Given the description of an element on the screen output the (x, y) to click on. 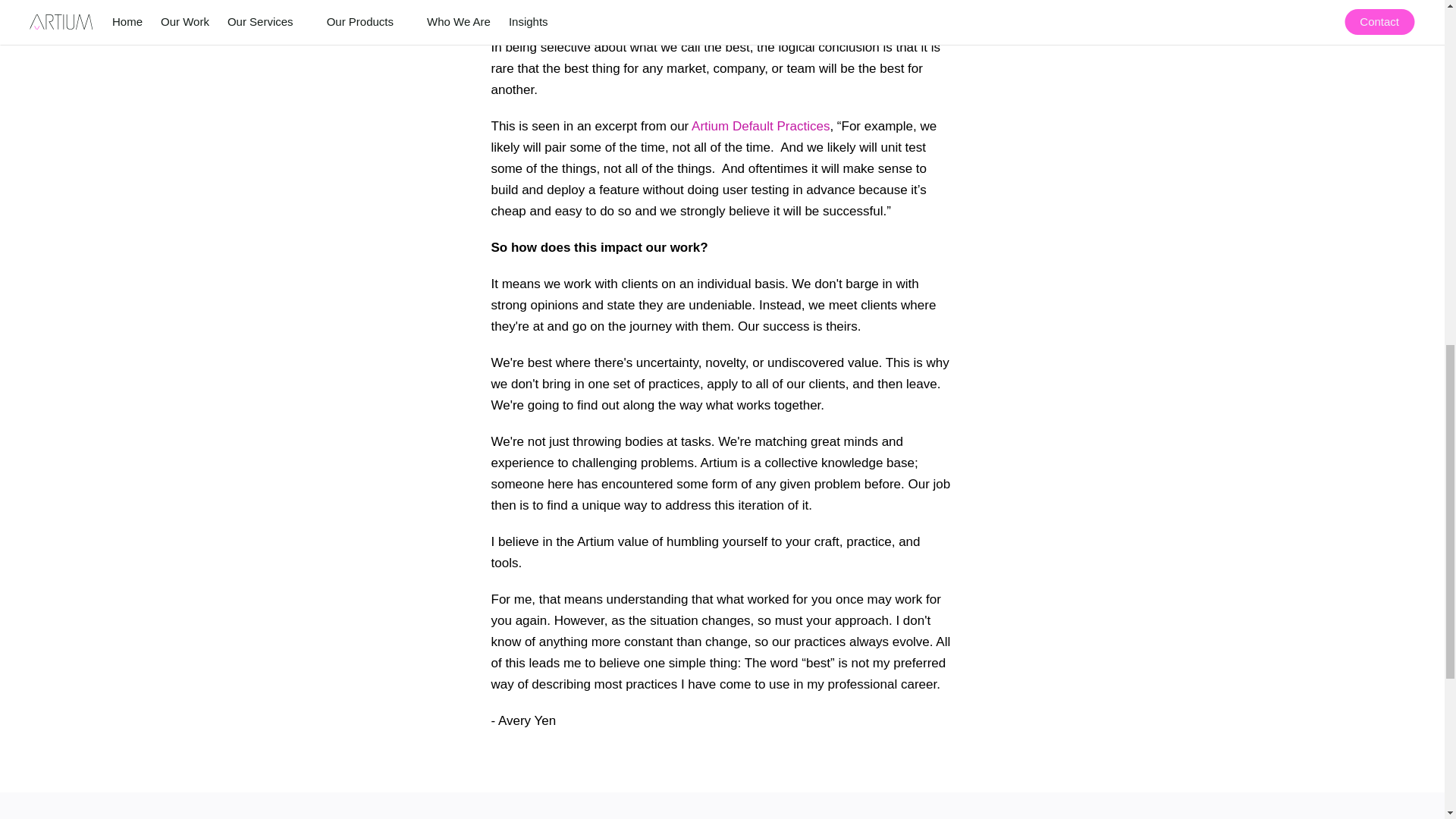
Artium Default Practices (760, 125)
